Given the description of an element on the screen output the (x, y) to click on. 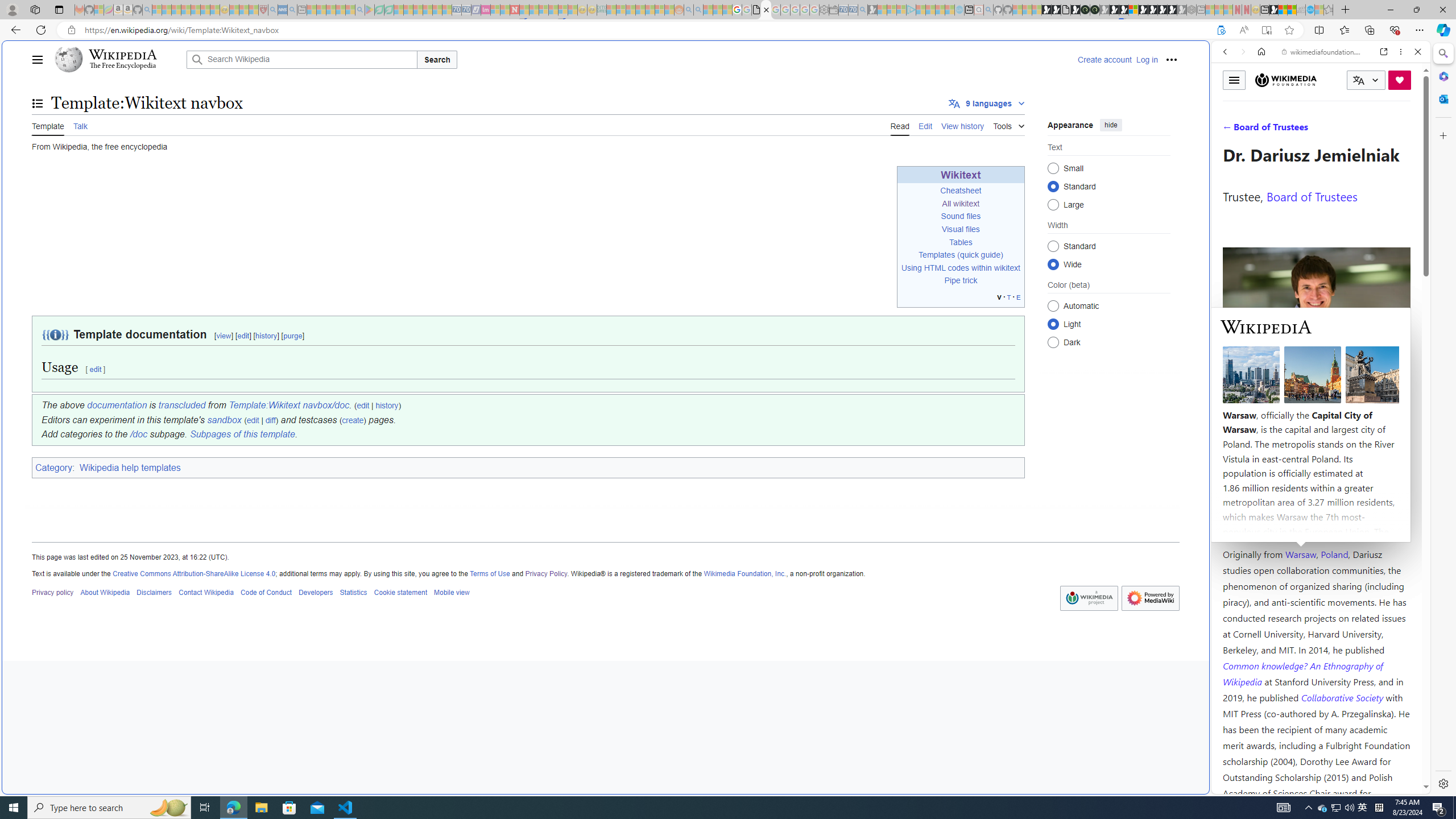
Donate now (1399, 80)
transcluded (181, 405)
Cookie statement (400, 591)
Talk (79, 124)
Visual files (959, 228)
